Given the description of an element on the screen output the (x, y) to click on. 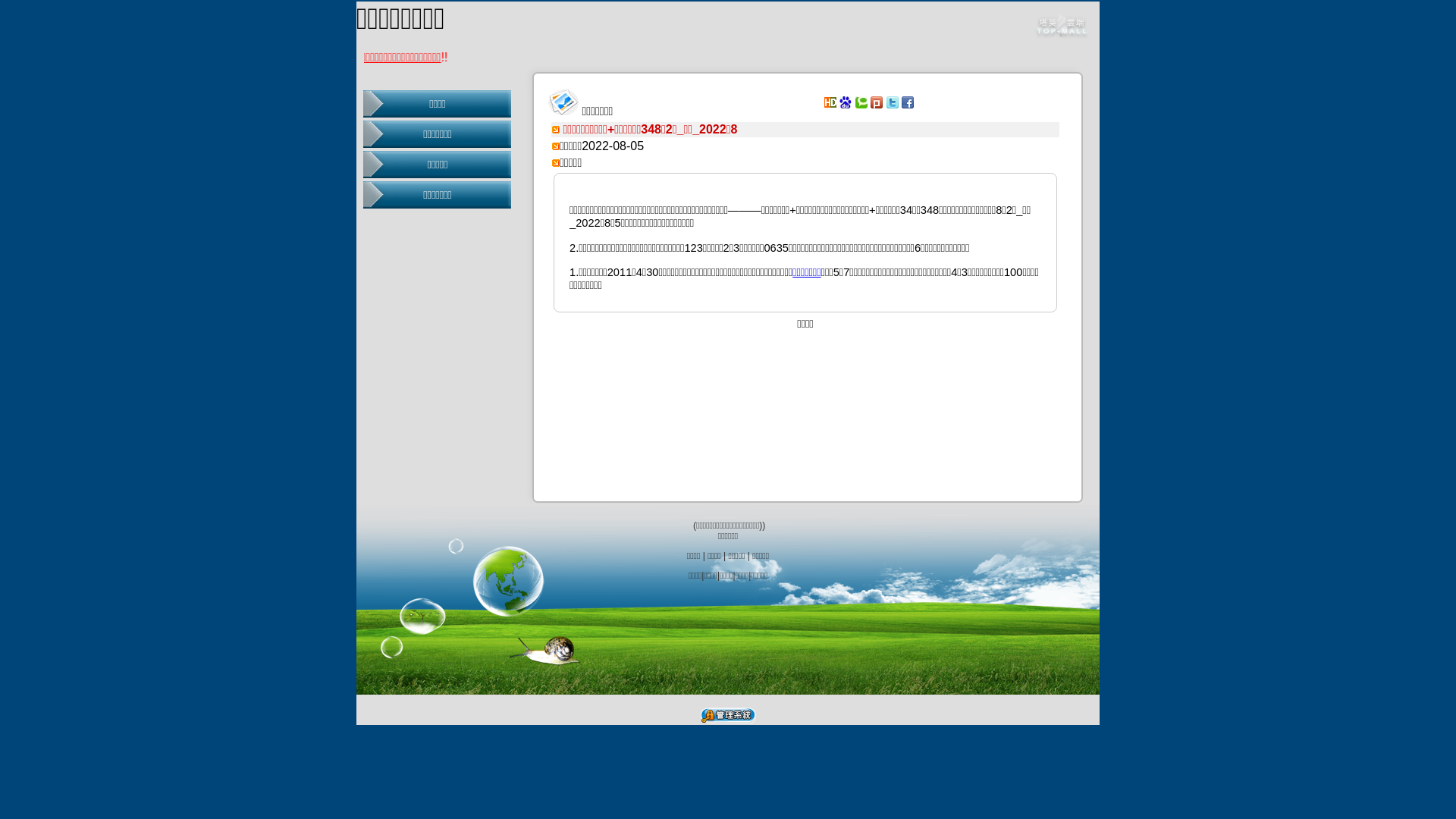
technorati Element type: hover (861, 101)
HemiDemi Element type: hover (830, 101)
Baidu Element type: hover (845, 101)
